Given the description of an element on the screen output the (x, y) to click on. 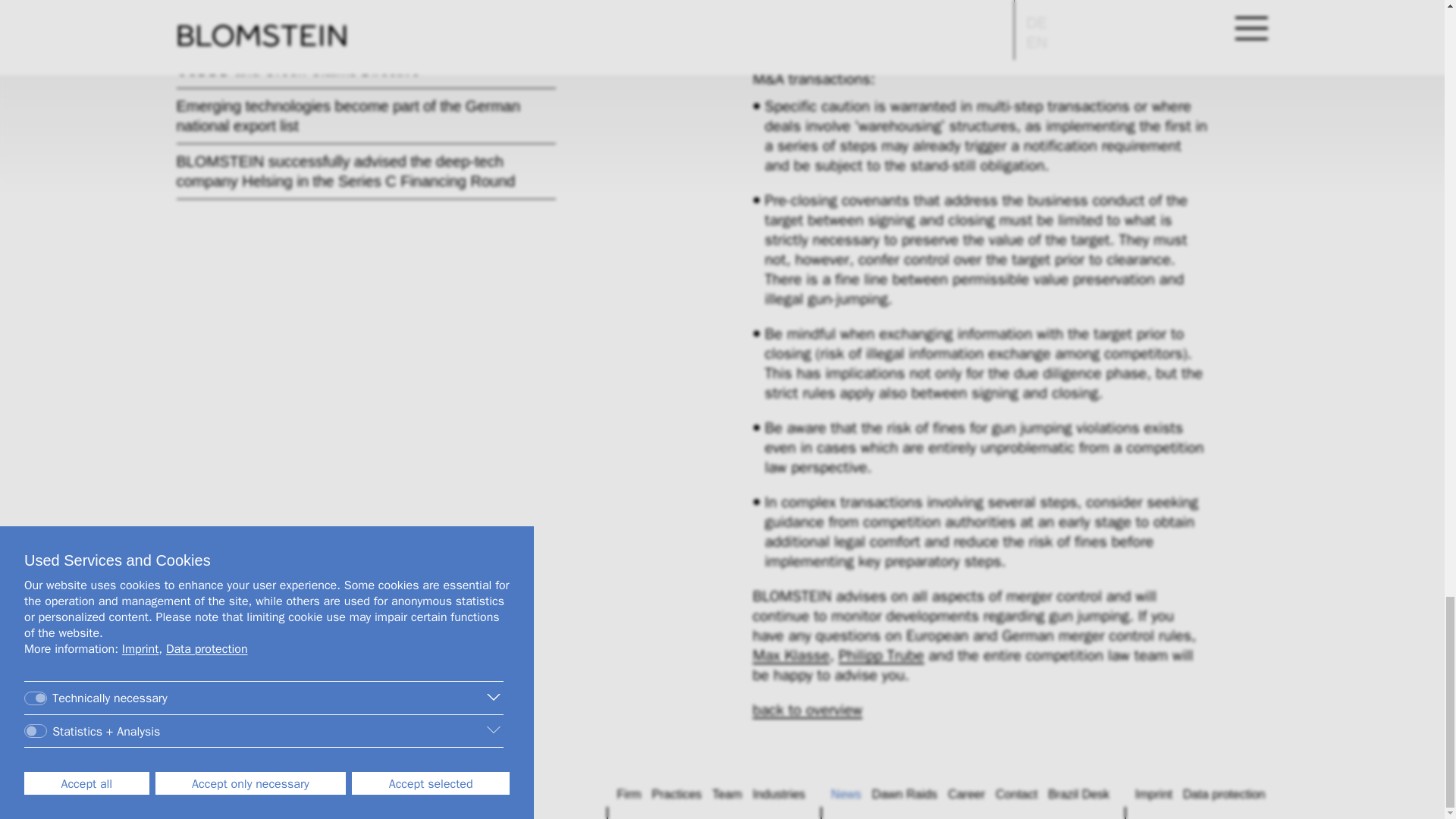
back to overview (806, 710)
